Given the description of an element on the screen output the (x, y) to click on. 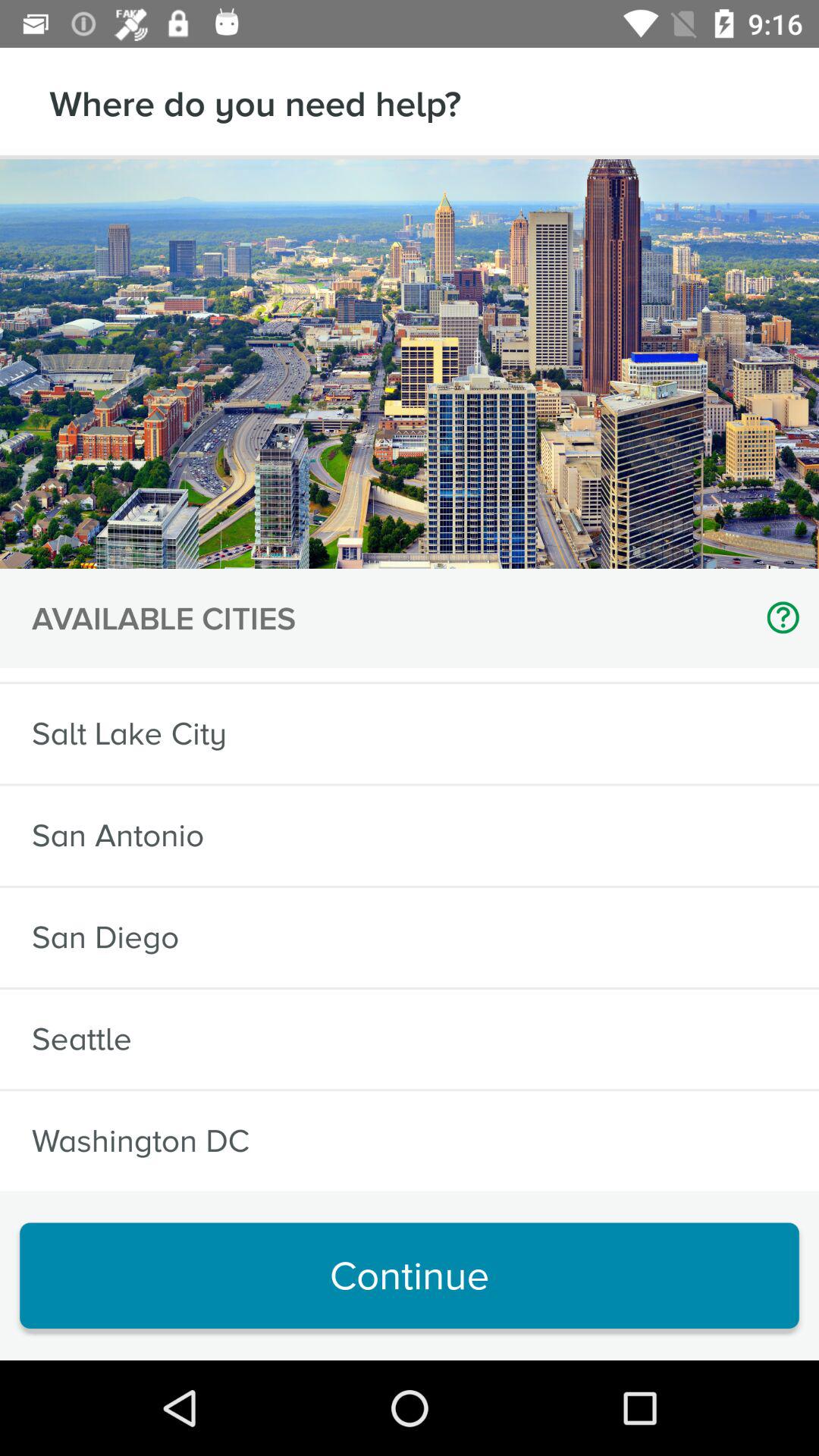
select icon below the san diego icon (81, 1039)
